Given the description of an element on the screen output the (x, y) to click on. 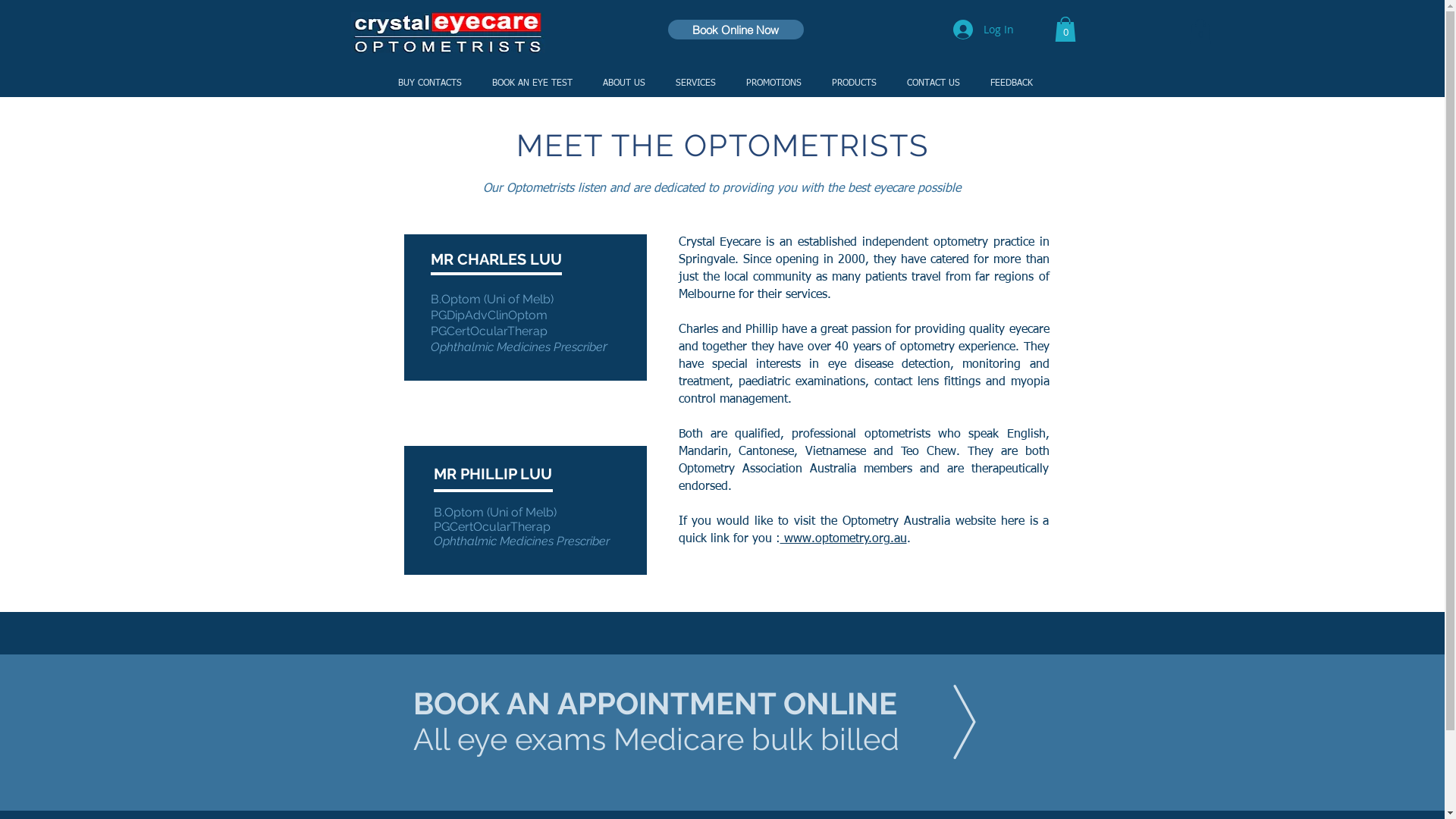
SERVICES Element type: text (694, 83)
Log In Element type: text (982, 29)
All eye exams Medicare bulk billed Element type: text (655, 738)
Book Online Now Element type: text (735, 29)
 www.optometry.org.au Element type: text (842, 539)
FEEDBACK Element type: text (1011, 83)
PRODUCTS Element type: text (853, 83)
0 Element type: text (1199, 30)
CE LOGO Element type: hover (447, 32)
BUY CONTACTS Element type: text (429, 83)
ABOUT US Element type: text (622, 83)
CONTACT US Element type: text (933, 83)
BOOK AN APPOINTMENT ONLINE Element type: text (654, 703)
BOOK AN EYE TEST Element type: text (531, 83)
PROMOTIONS Element type: text (773, 83)
0 Element type: text (1064, 28)
